Given the description of an element on the screen output the (x, y) to click on. 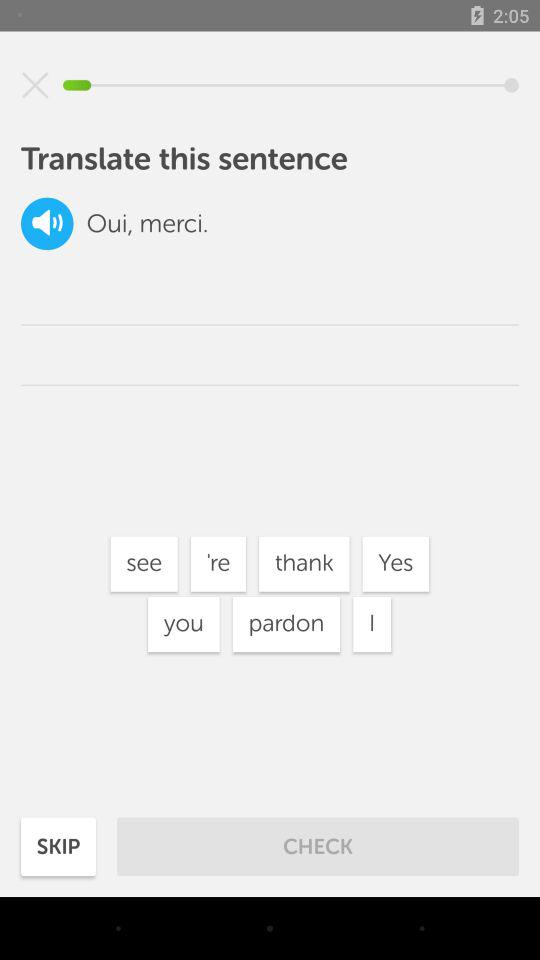
play text (47, 223)
